Given the description of an element on the screen output the (x, y) to click on. 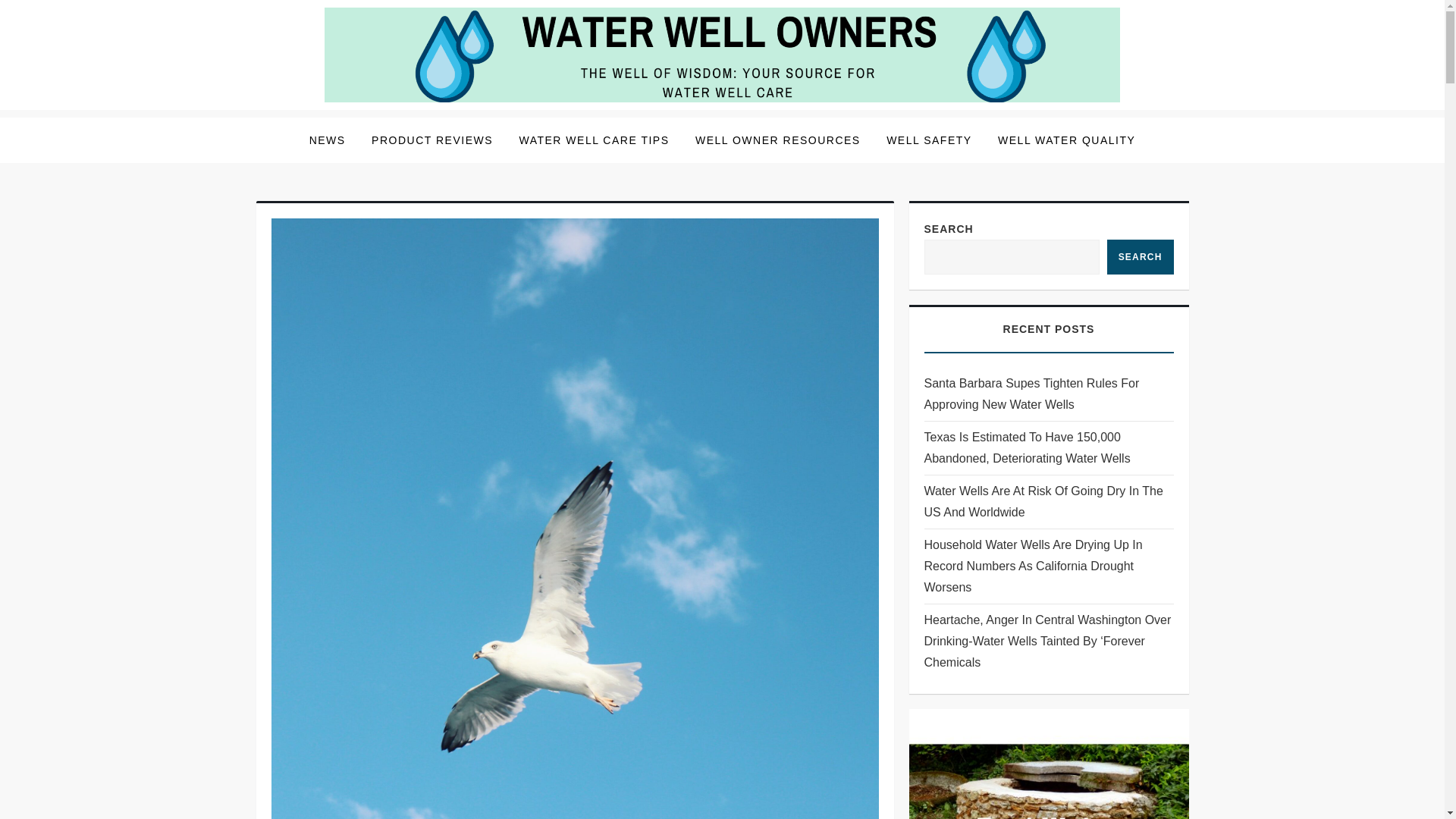
WELL WATER QUALITY (1067, 139)
WELL SAFETY (928, 139)
WATER WELL CARE TIPS (592, 139)
NEWS (327, 139)
Water Well Owners (385, 120)
WELL OWNER RESOURCES (778, 139)
PRODUCT REVIEWS (431, 139)
